Given the description of an element on the screen output the (x, y) to click on. 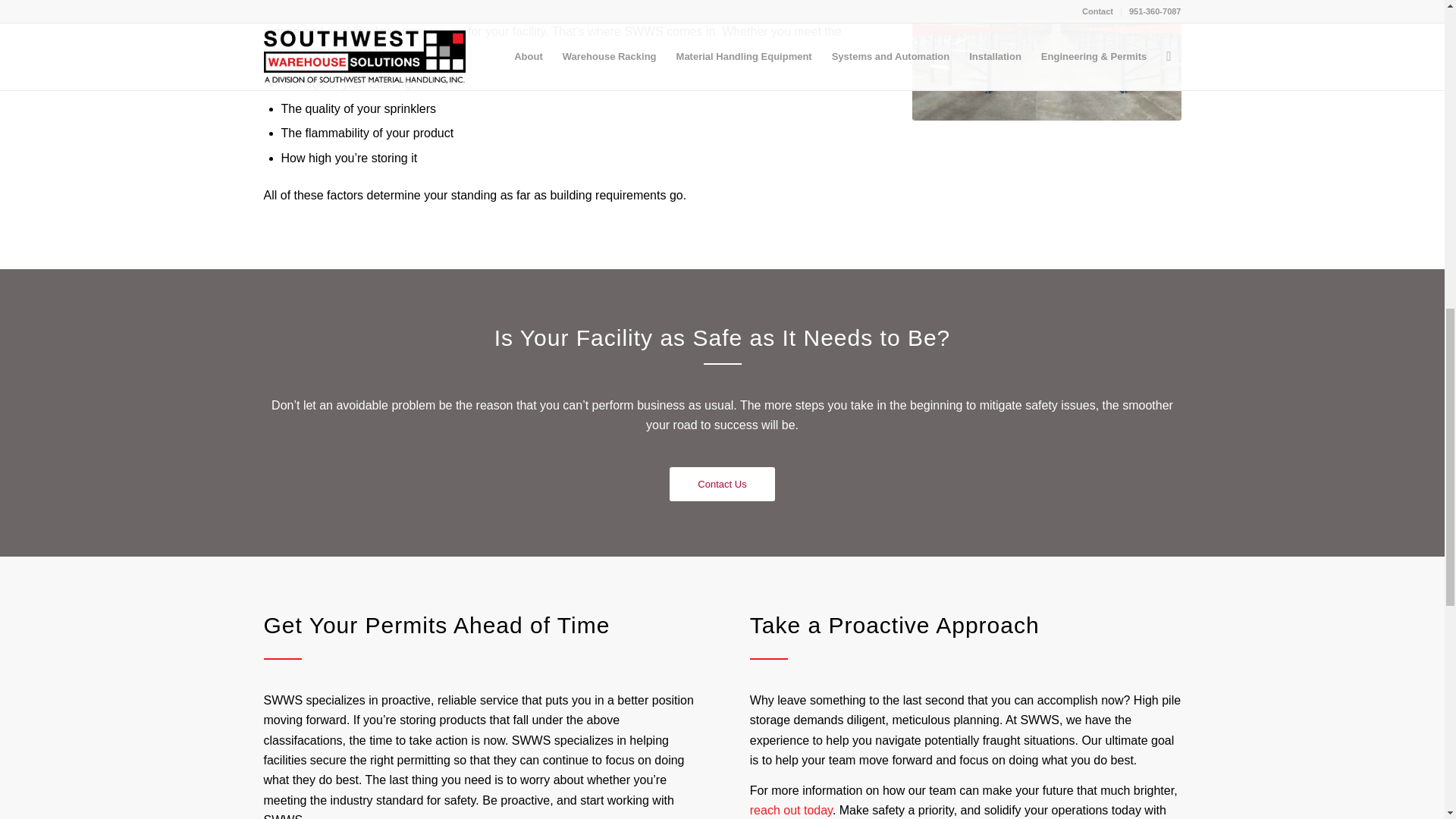
High-Pile-Rack-Aisle-Shot (1046, 60)
